Given the description of an element on the screen output the (x, y) to click on. 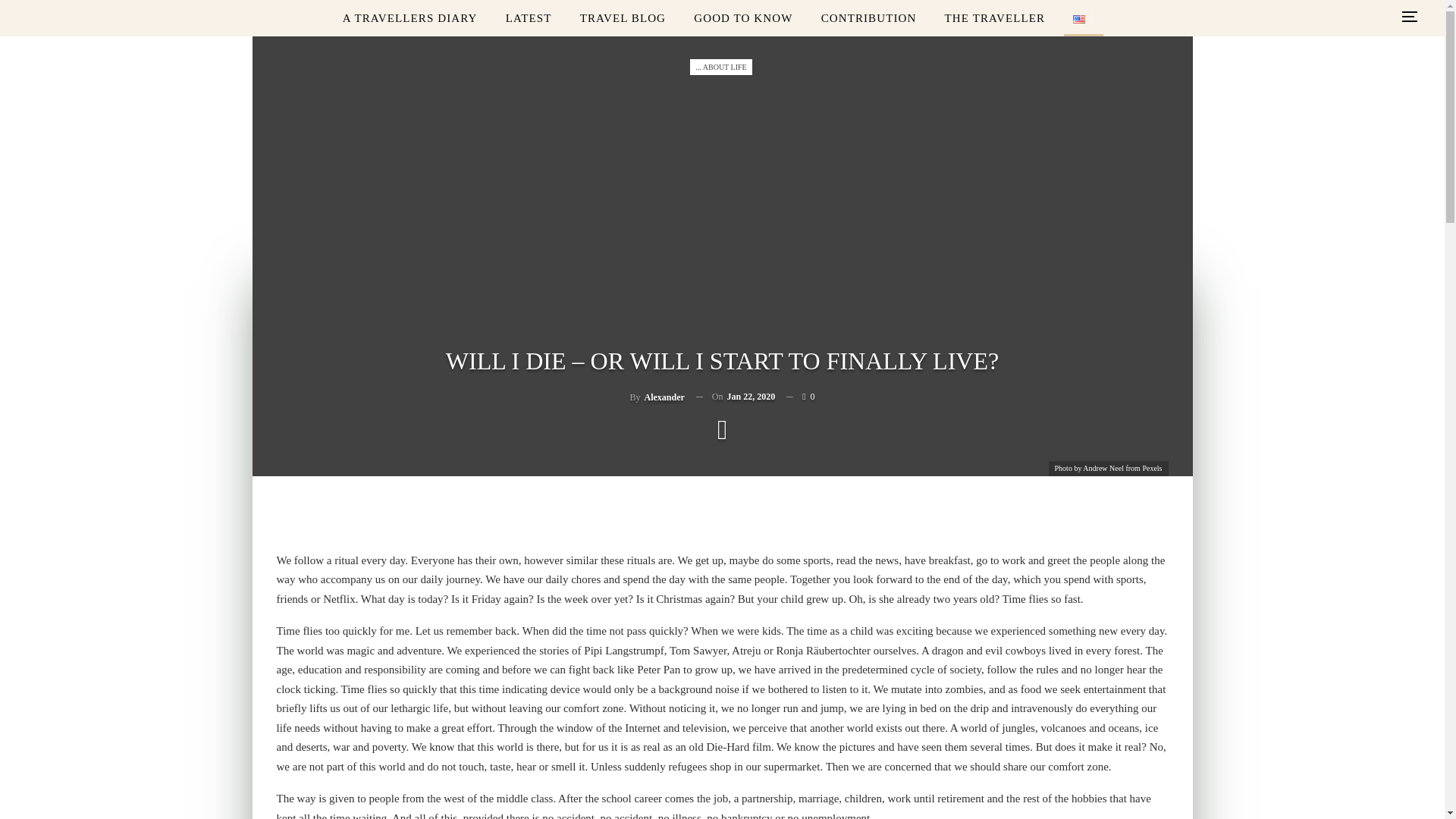
... ABOUT LIFE (720, 66)
Browse Author Articles (656, 396)
TRAVEL BLOG (622, 18)
CONTRIBUTION (869, 18)
GOOD TO KNOW (743, 18)
THE TRAVELLER (995, 18)
A TRAVELLERS DIARY (409, 18)
By Alexander (656, 396)
0 (799, 396)
LATEST (528, 18)
